Given the description of an element on the screen output the (x, y) to click on. 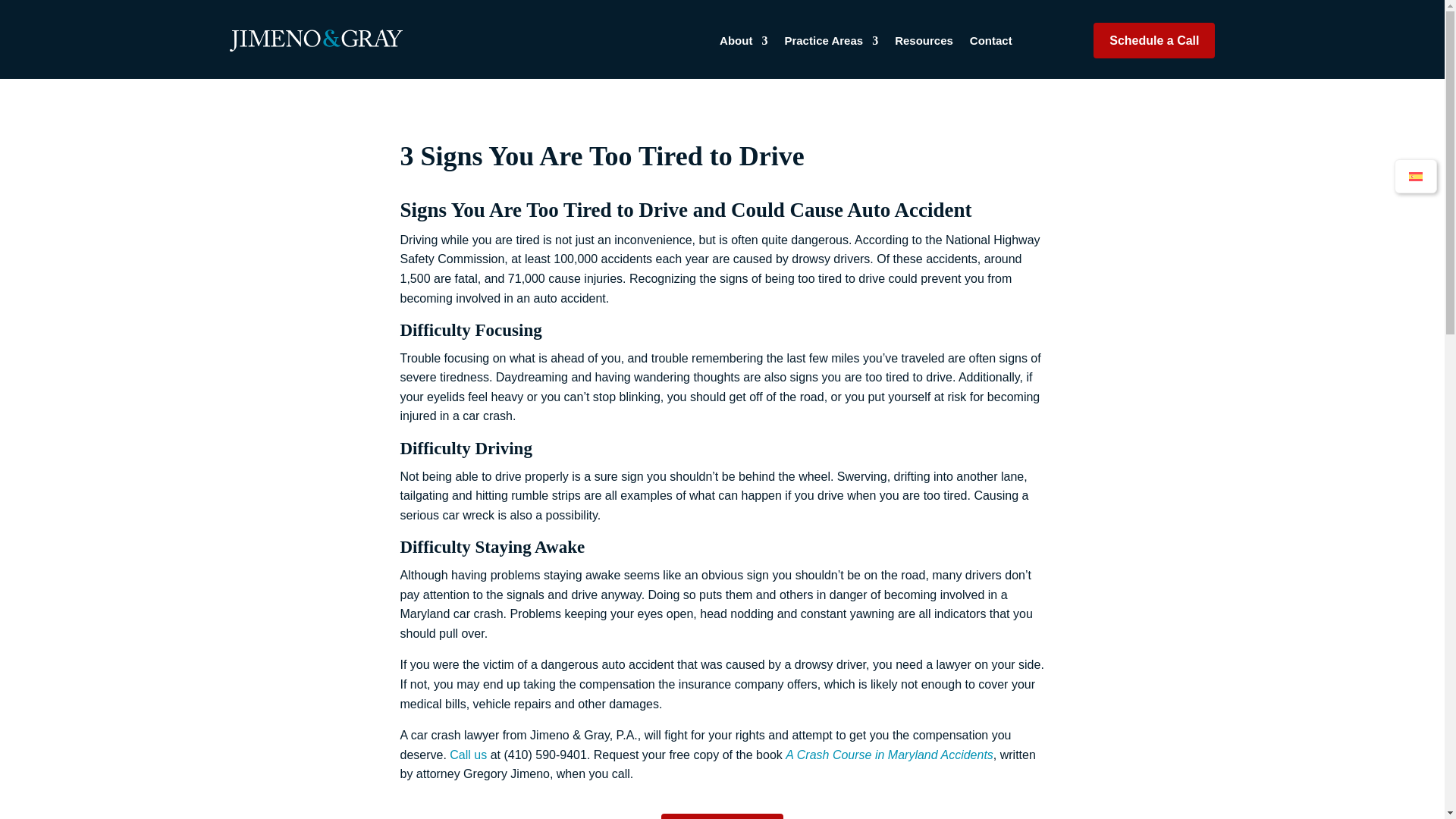
Jimeno Gray Attorneys at Law Word Mark 1 (315, 40)
